Given the description of an element on the screen output the (x, y) to click on. 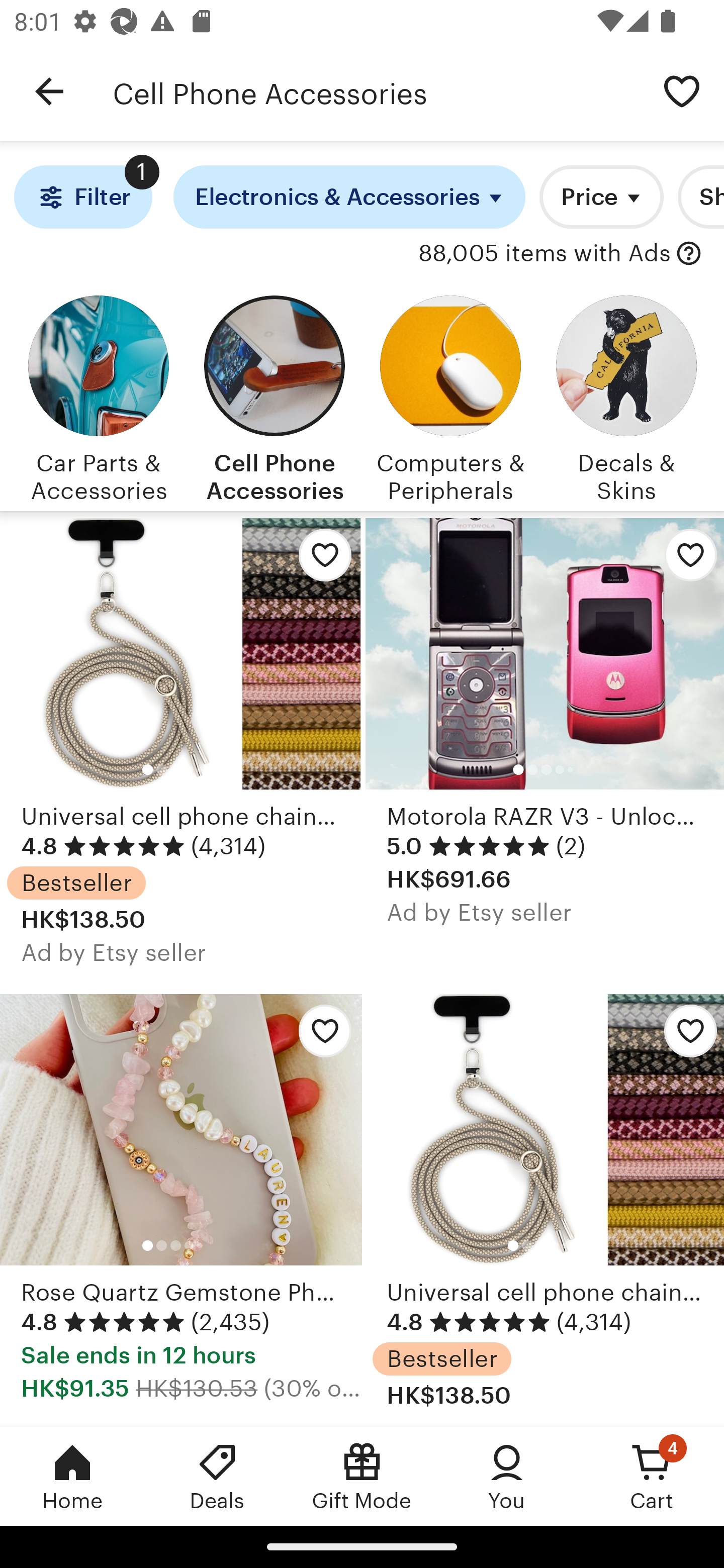
Navigate up (49, 91)
Save search (681, 90)
Cell Phone Accessories (375, 91)
Filter (82, 197)
Electronics & Accessories (349, 197)
Price (601, 197)
88,005 items with Ads (544, 253)
with Ads (688, 253)
Car Parts & Accessories (97, 395)
Cell Phone Accessories (273, 395)
Computers & Peripherals (449, 395)
Decals & Skins (625, 395)
Deals (216, 1475)
Gift Mode (361, 1475)
You (506, 1475)
Cart, 4 new notifications Cart (651, 1475)
